Given the description of an element on the screen output the (x, y) to click on. 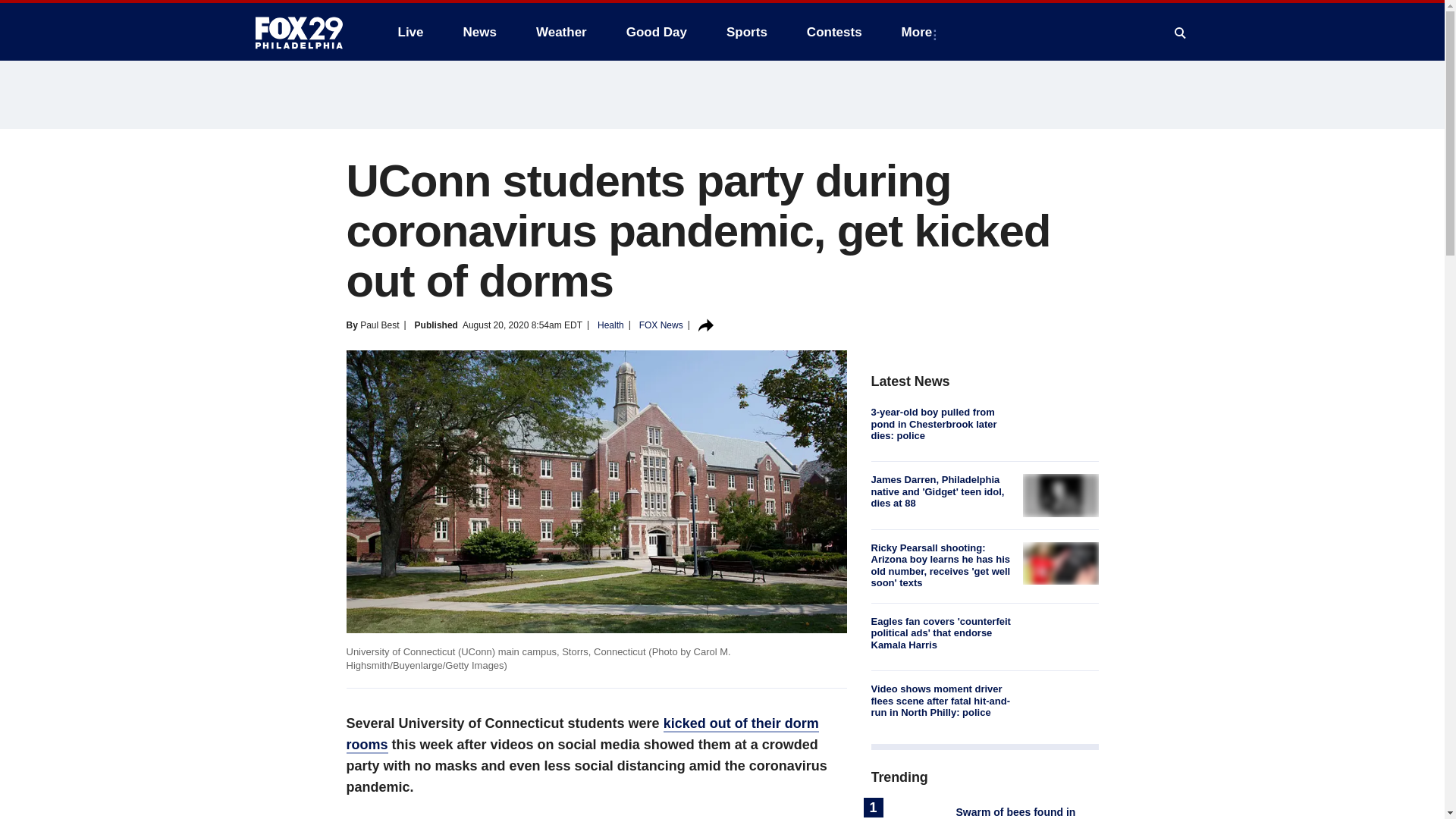
News (479, 32)
Good Day (656, 32)
Sports (746, 32)
Weather (561, 32)
Contests (834, 32)
More (919, 32)
Live (410, 32)
